Given the description of an element on the screen output the (x, y) to click on. 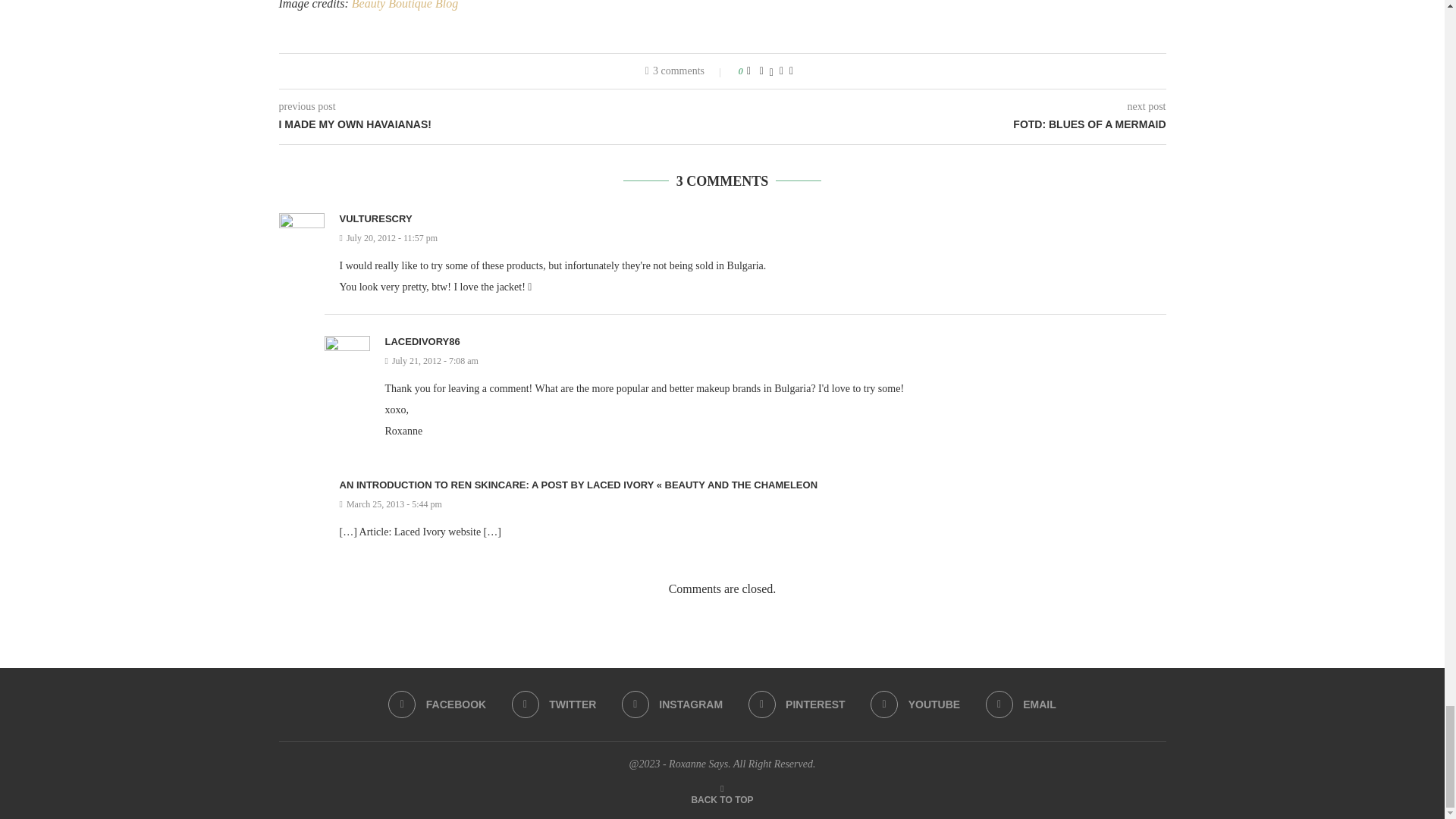
Beauty Boutique Blog (405, 4)
